Given the description of an element on the screen output the (x, y) to click on. 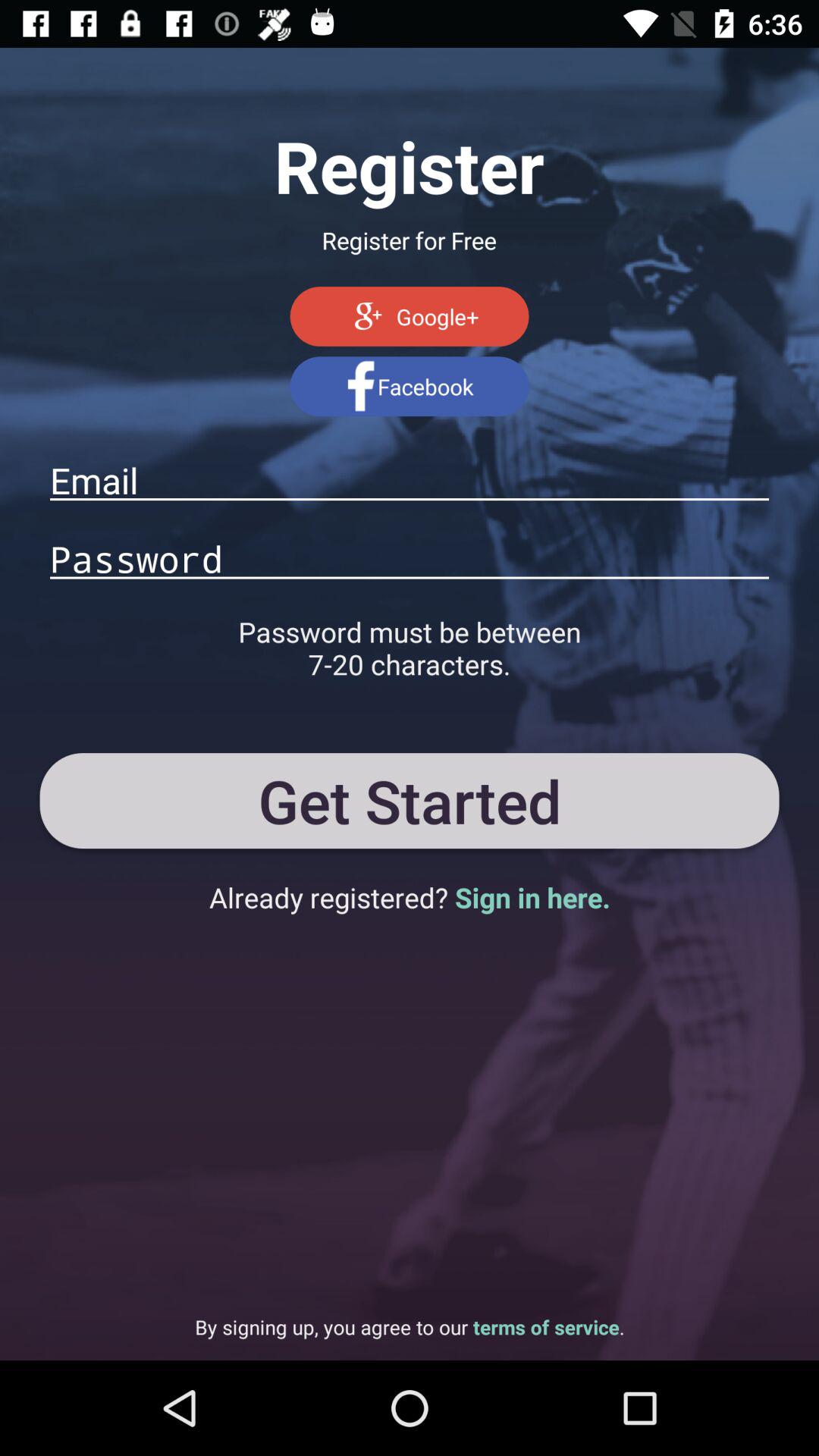
jump until the by signing up icon (409, 1326)
